Given the description of an element on the screen output the (x, y) to click on. 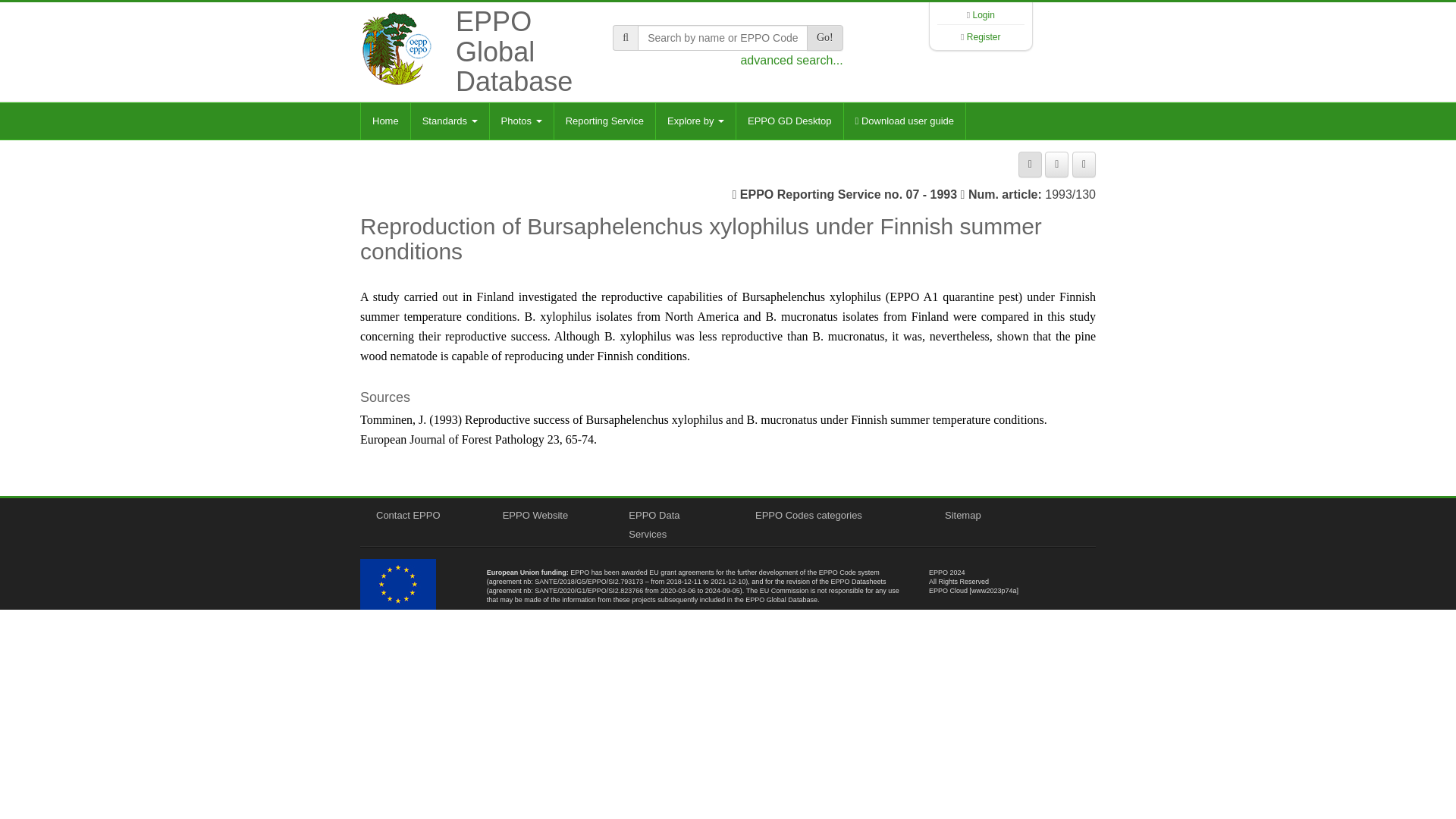
Standards (449, 121)
Login (983, 14)
Print (1029, 164)
EPPO GD Desktop (789, 121)
Share on facebook (1056, 164)
Photos (521, 121)
Home (384, 121)
Explore by (695, 121)
advanced search... (791, 60)
Register (983, 36)
Reporting Service (604, 121)
Share on twitter (1083, 164)
Go! (824, 37)
